Given the description of an element on the screen output the (x, y) to click on. 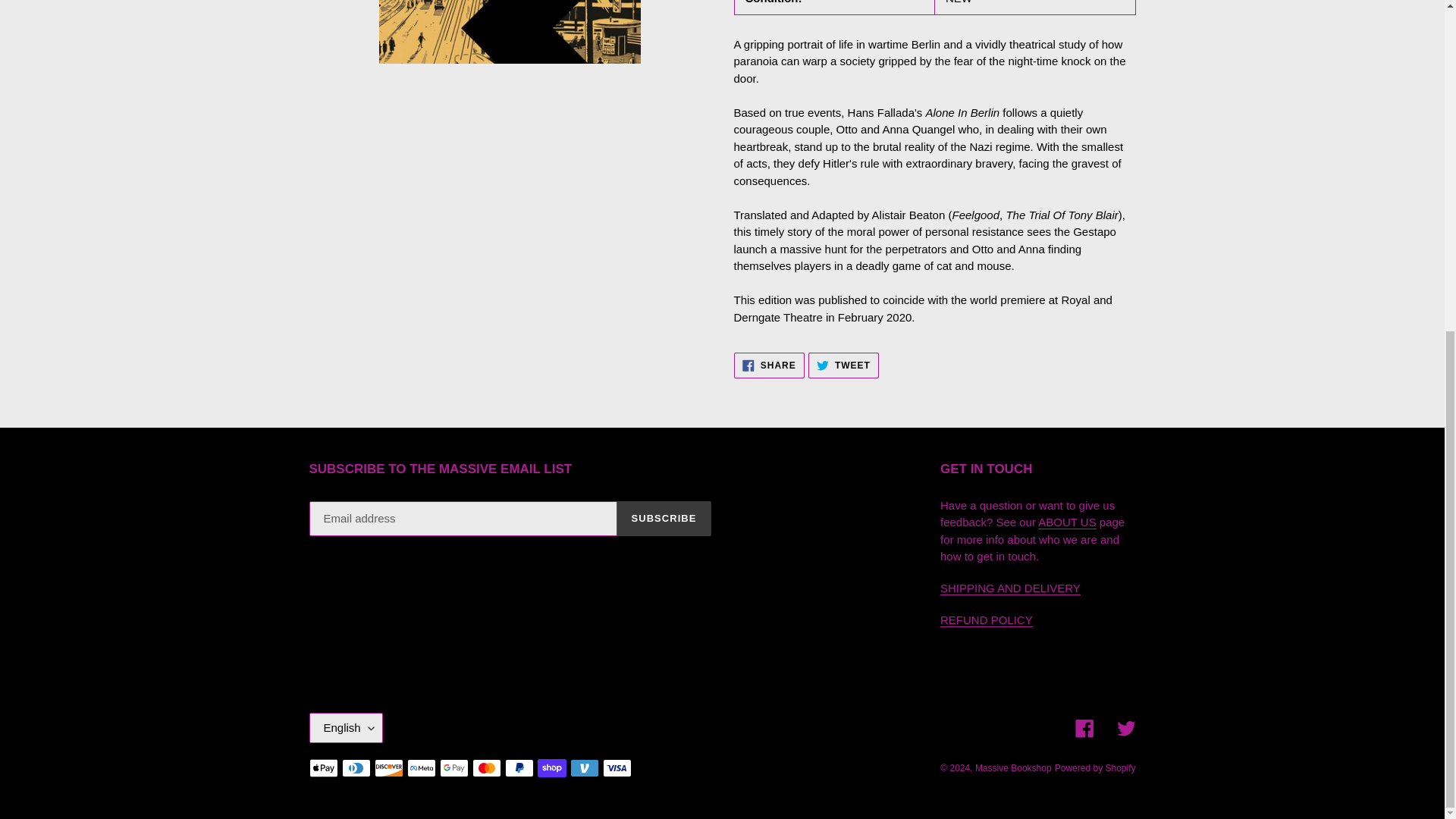
English (345, 727)
Refund Policy (986, 620)
SHIPPING AND DELIVERY (1010, 588)
Powered by Shopify (1094, 767)
Shipping Policy (1010, 588)
SUBSCRIBE (769, 365)
REFUND POLICY (664, 518)
ABOUT US (986, 620)
